Given the description of an element on the screen output the (x, y) to click on. 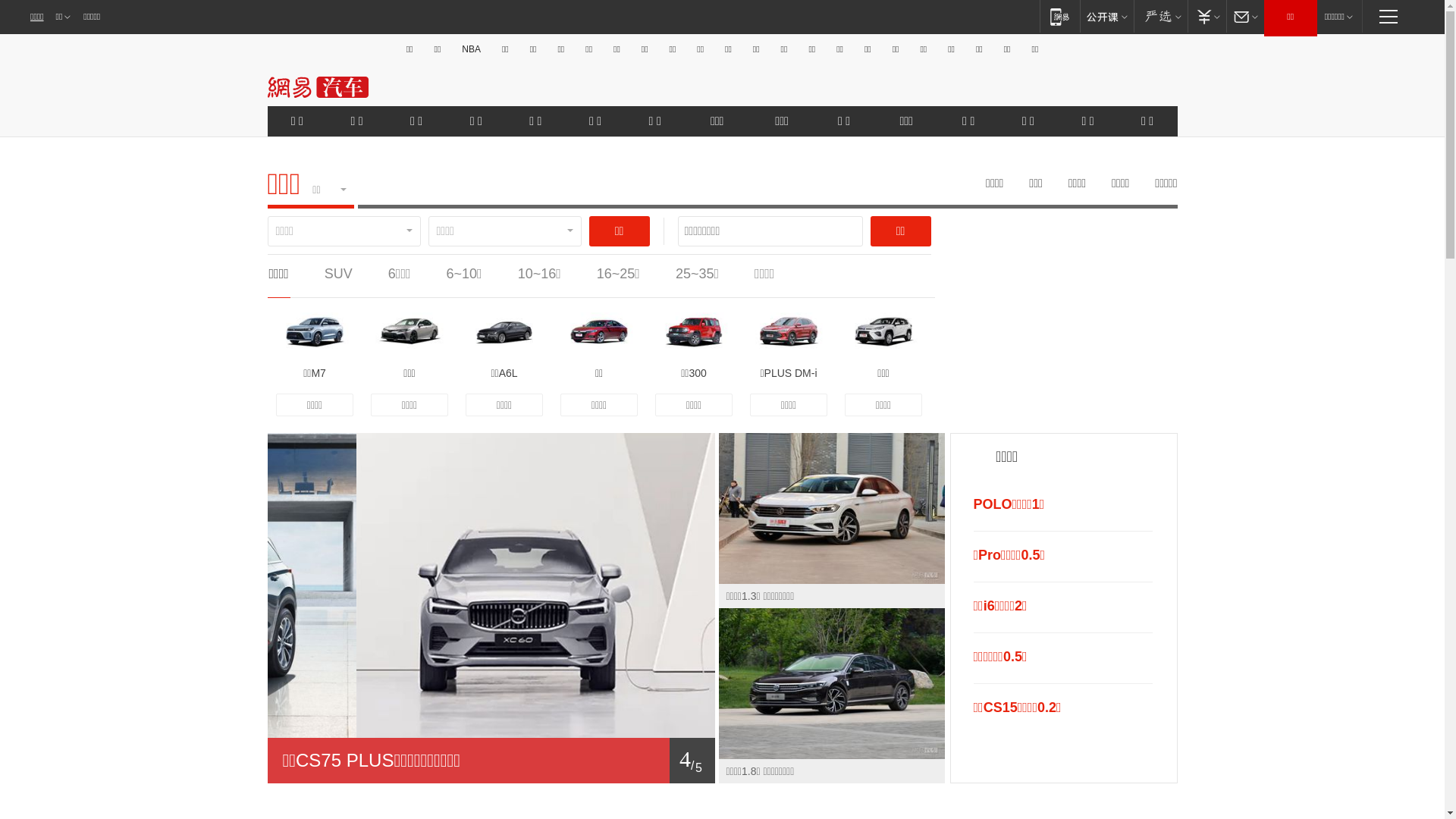
1/ 5 Element type: text (490, 760)
SUV Element type: text (338, 273)
NBA Element type: text (471, 48)
